Given the description of an element on the screen output the (x, y) to click on. 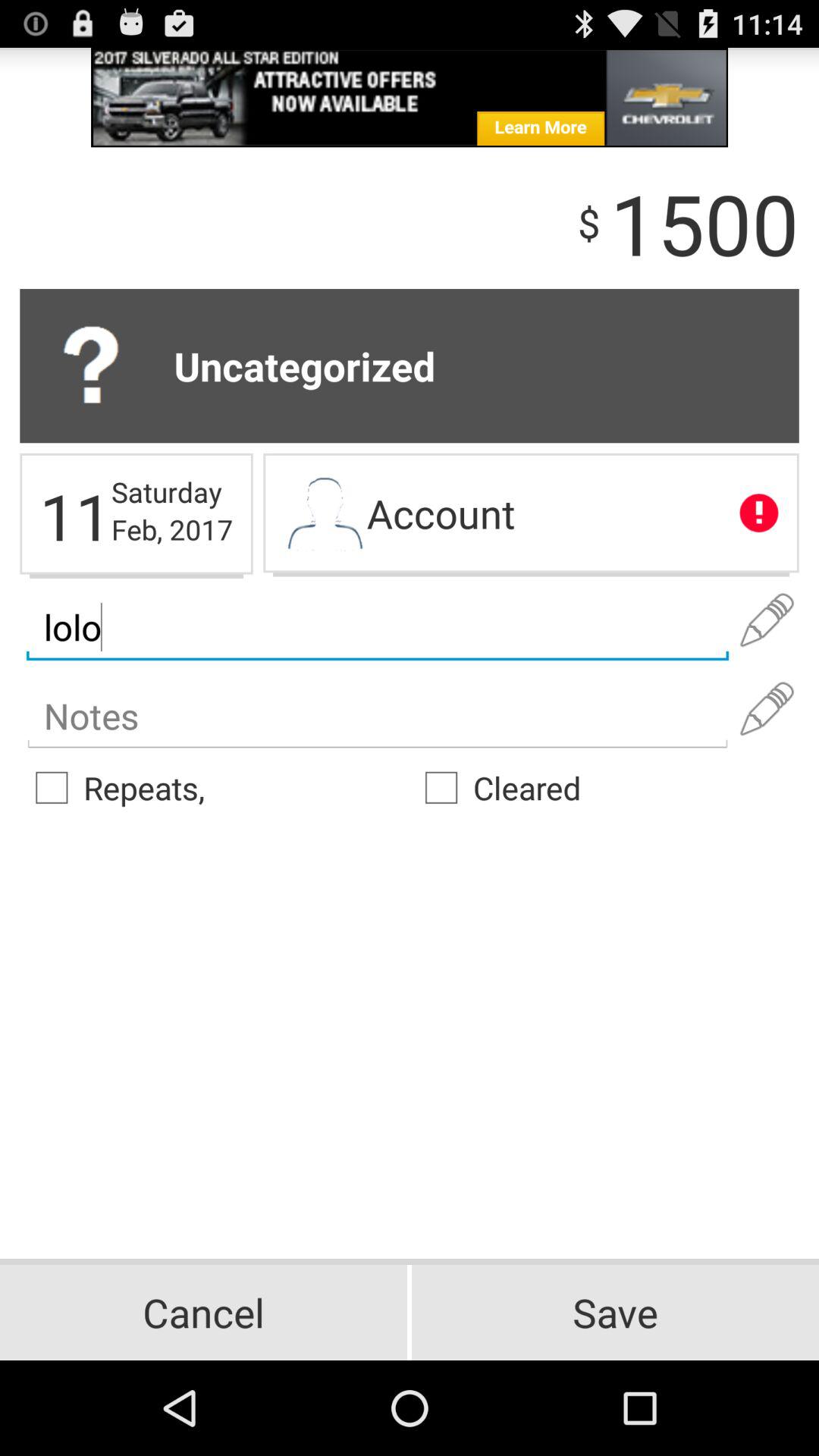
click to edit option (767, 620)
